Given the description of an element on the screen output the (x, y) to click on. 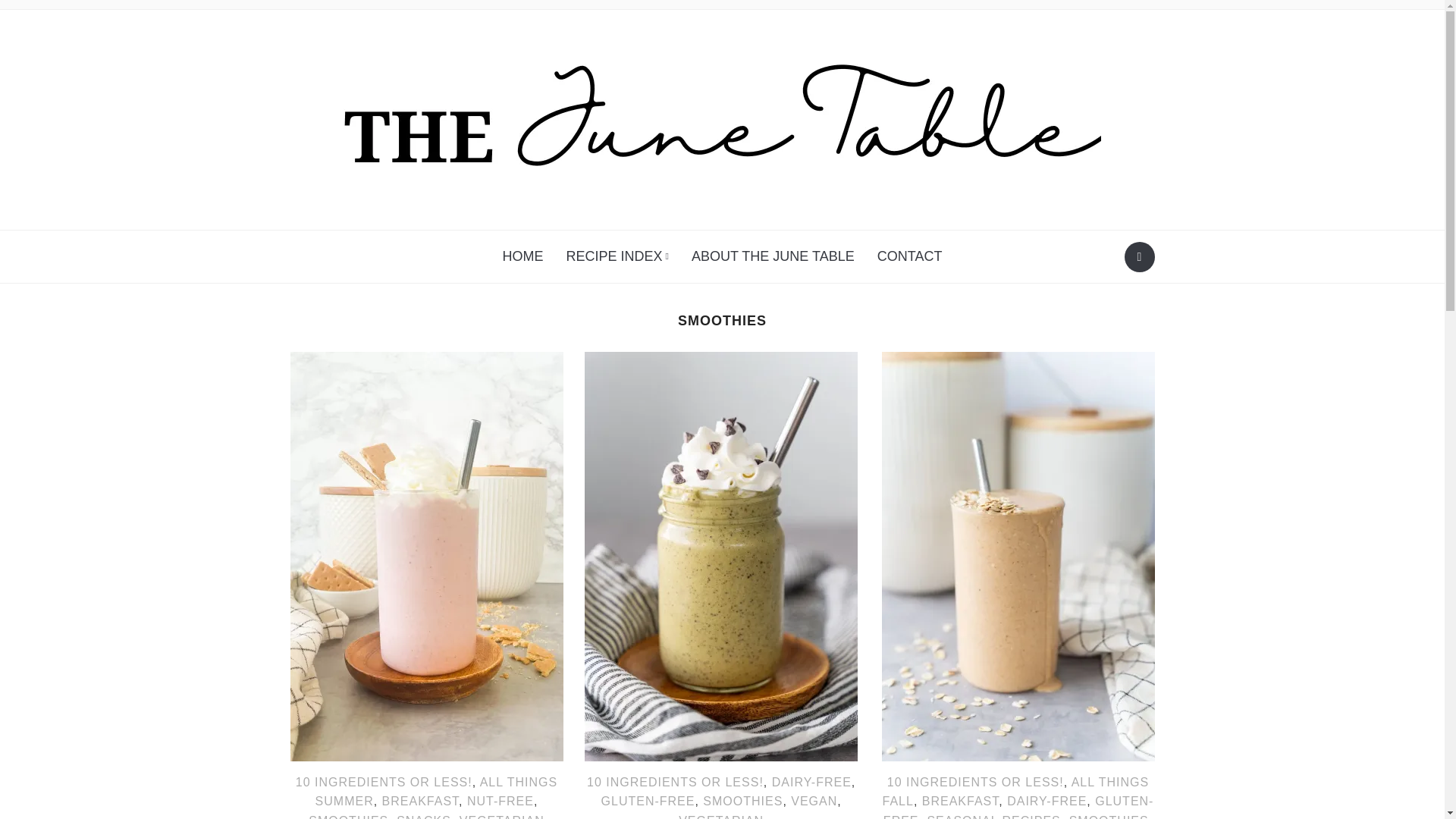
Search (1139, 256)
Easy Strawberry Cheesecake Smoothie (425, 554)
The Best Mint Chip Smoothie (721, 554)
Vegan Butternut Squash Smoothie (1017, 554)
